Given the description of an element on the screen output the (x, y) to click on. 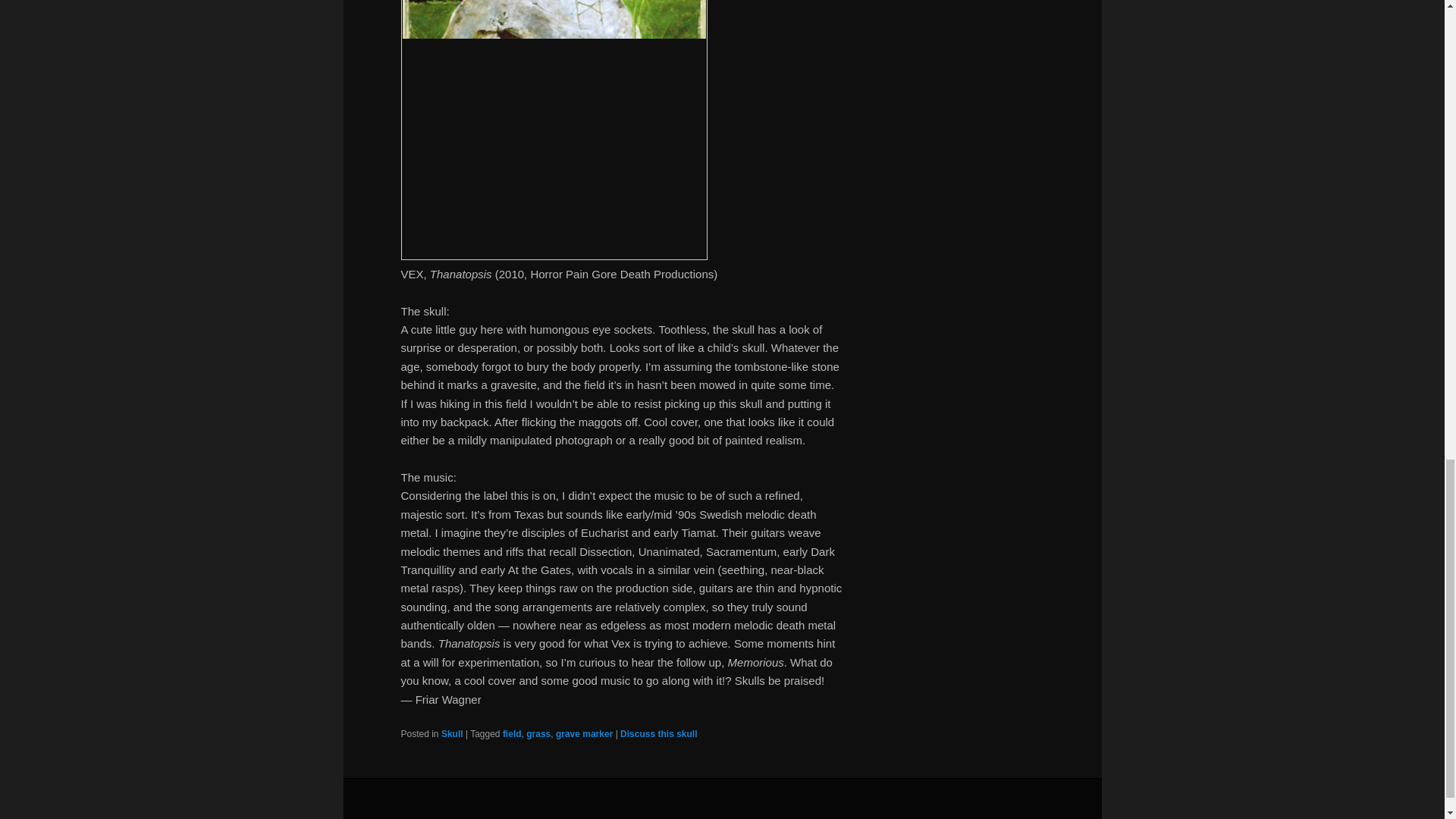
grass (537, 733)
Skull (452, 733)
Discuss this skull (658, 733)
field (511, 733)
grave marker (584, 733)
